Given the description of an element on the screen output the (x, y) to click on. 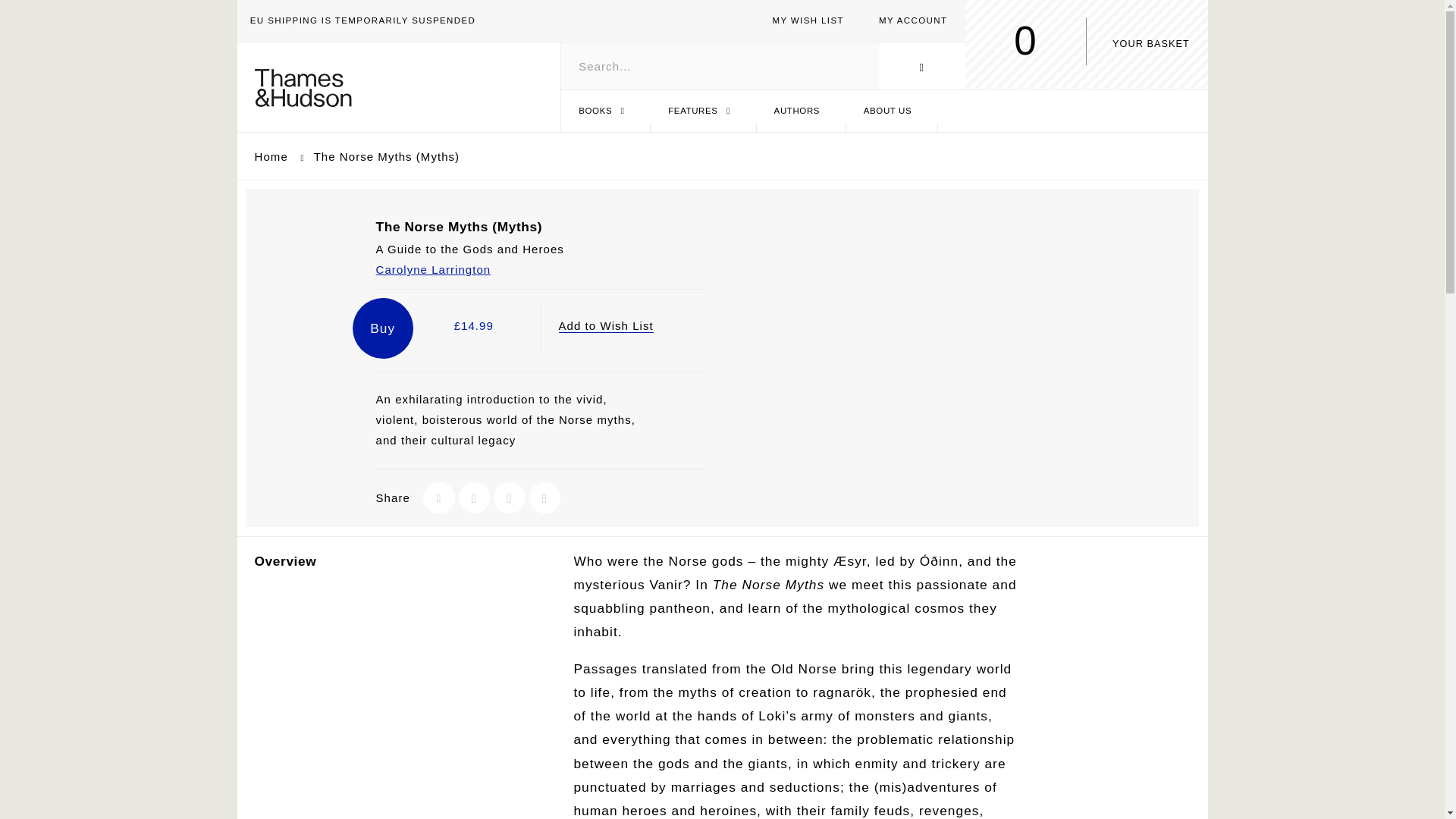
MY ACCOUNT (605, 110)
Go to Home Page (1085, 44)
Search (913, 20)
MY WISH LIST (273, 155)
Buy (963, 54)
